Given the description of an element on the screen output the (x, y) to click on. 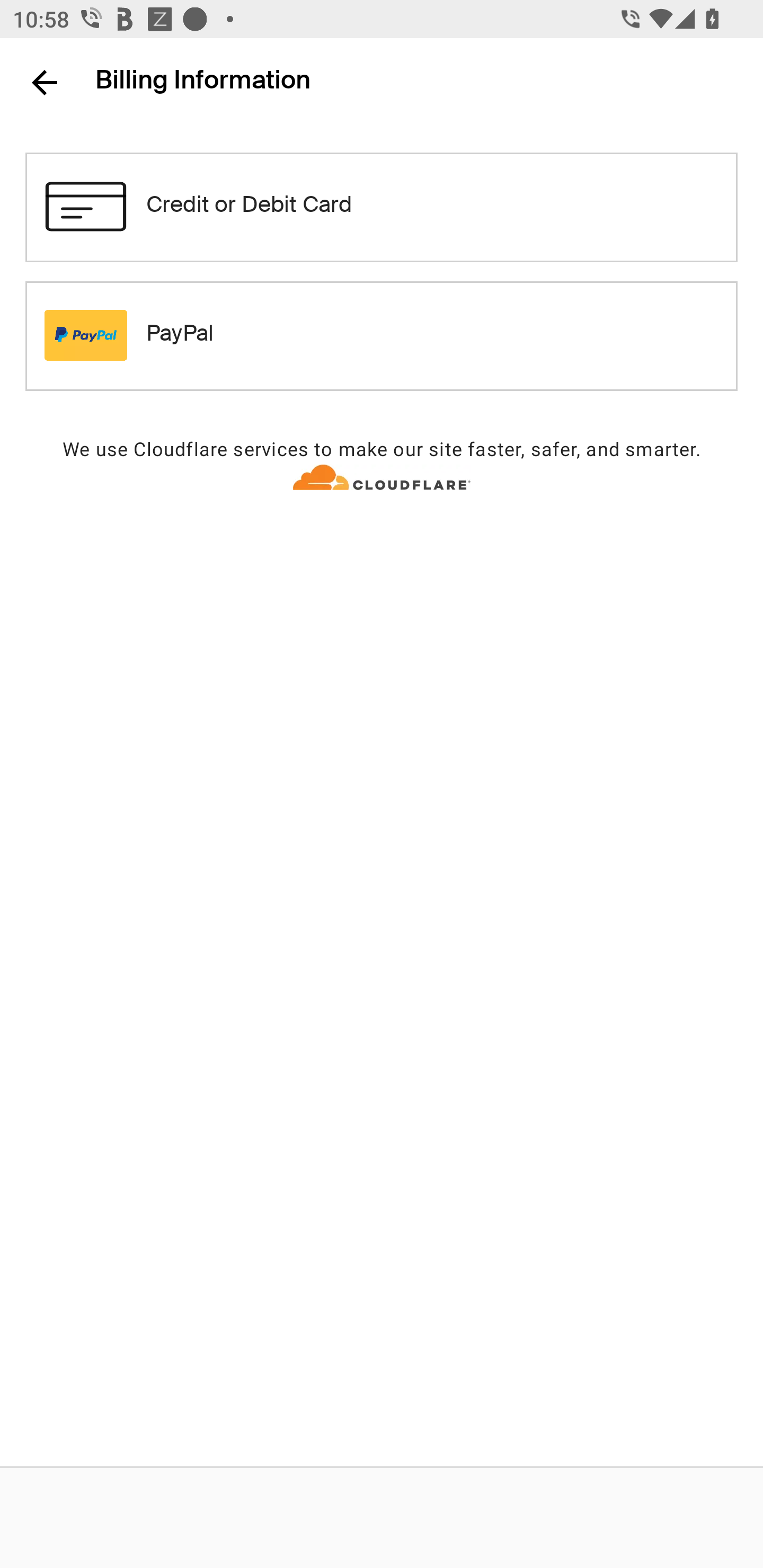
Navigate up (44, 82)
Credit or Debit Card (381, 206)
PayPal (381, 335)
